Given the description of an element on the screen output the (x, y) to click on. 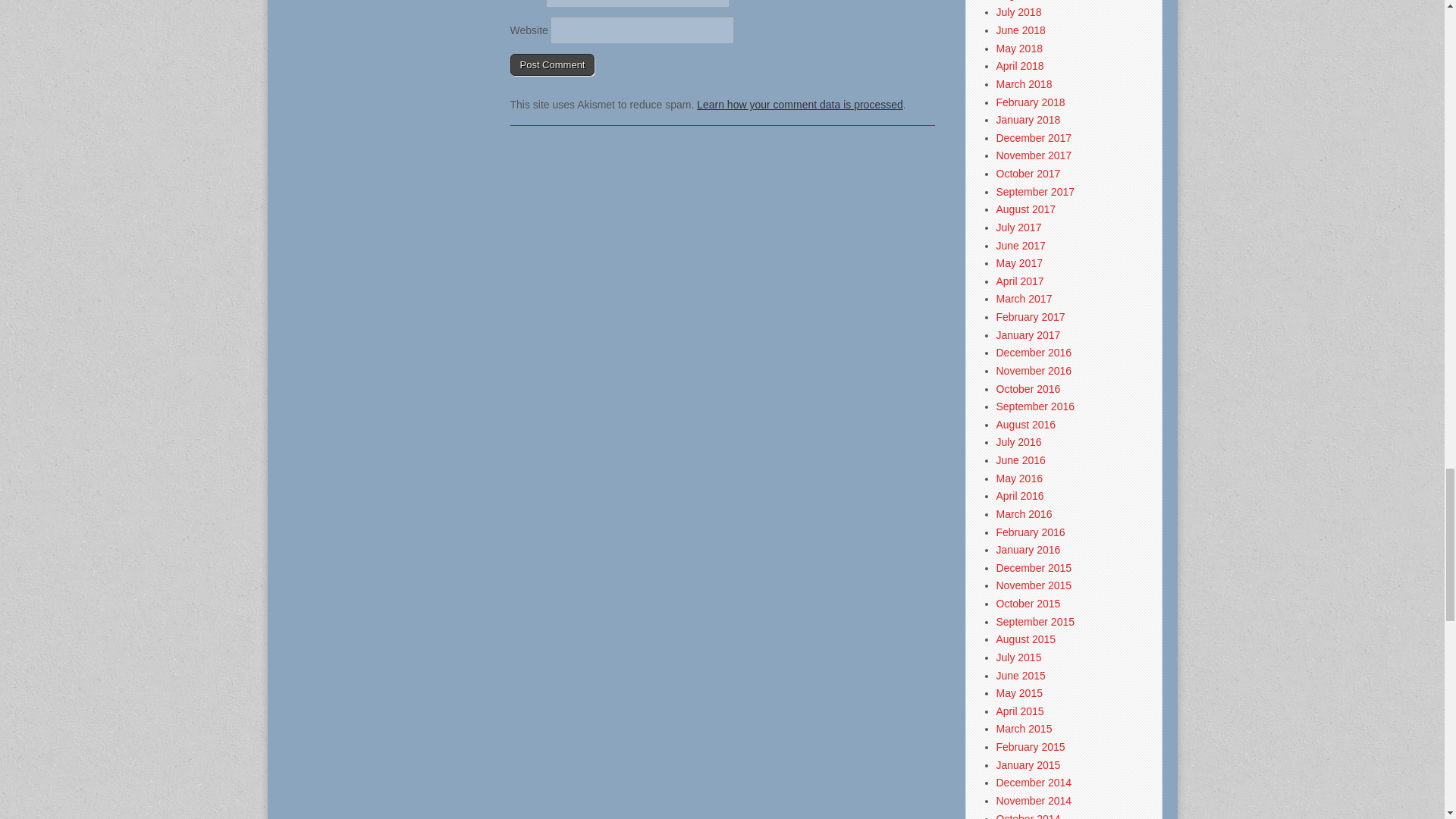
Learn how your comment data is processed (799, 104)
Post Comment (551, 65)
Post Comment (551, 65)
